Given the description of an element on the screen output the (x, y) to click on. 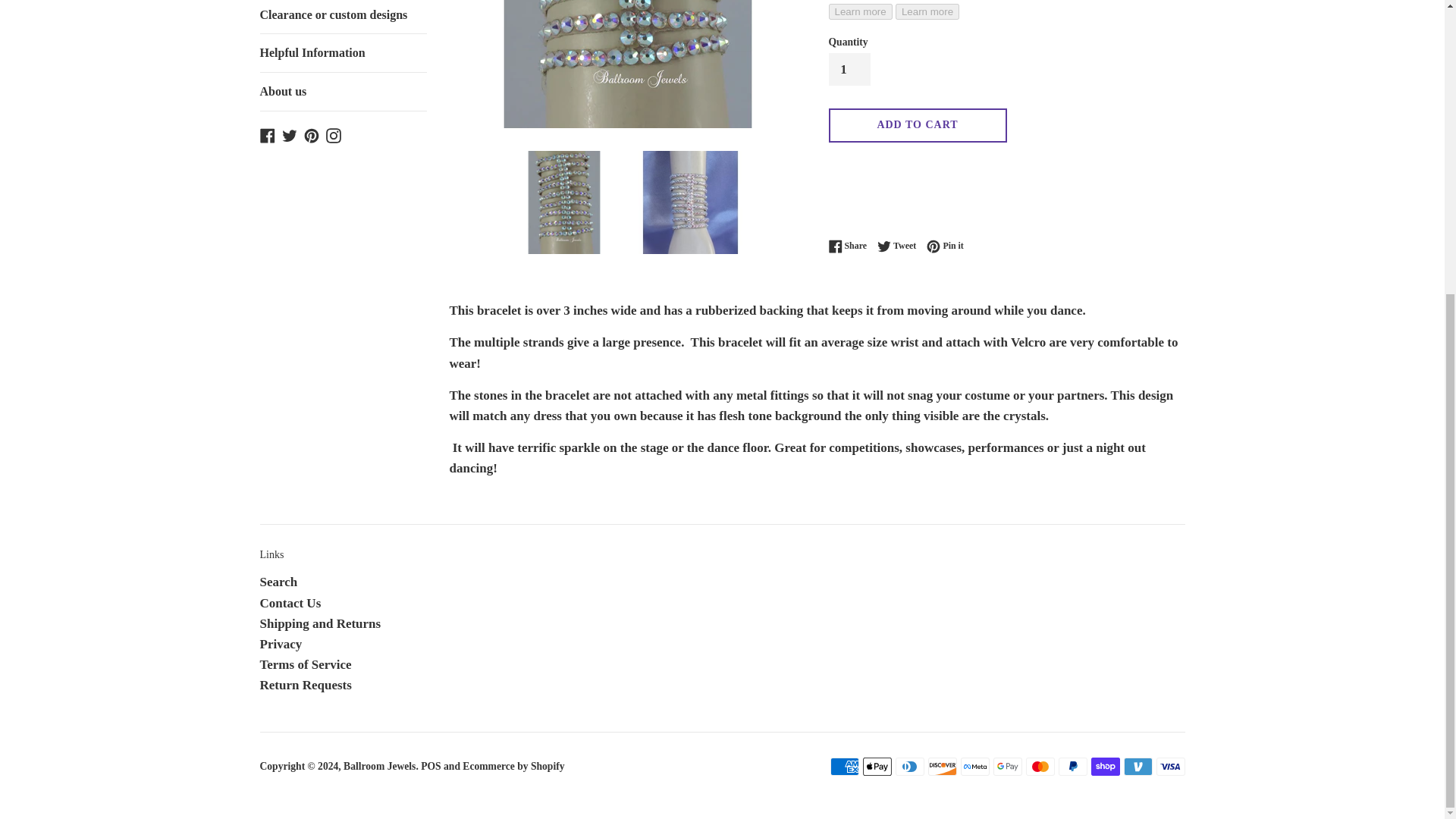
Apple Pay (877, 766)
Ballroom Jewels on Facebook (267, 134)
Instagram (333, 134)
Visa (1170, 766)
Diners Club (909, 766)
Share on Facebook (851, 246)
Venmo (1138, 766)
Helpful Information (342, 53)
ADD TO CART (917, 125)
Shop Pay (1104, 766)
